Given the description of an element on the screen output the (x, y) to click on. 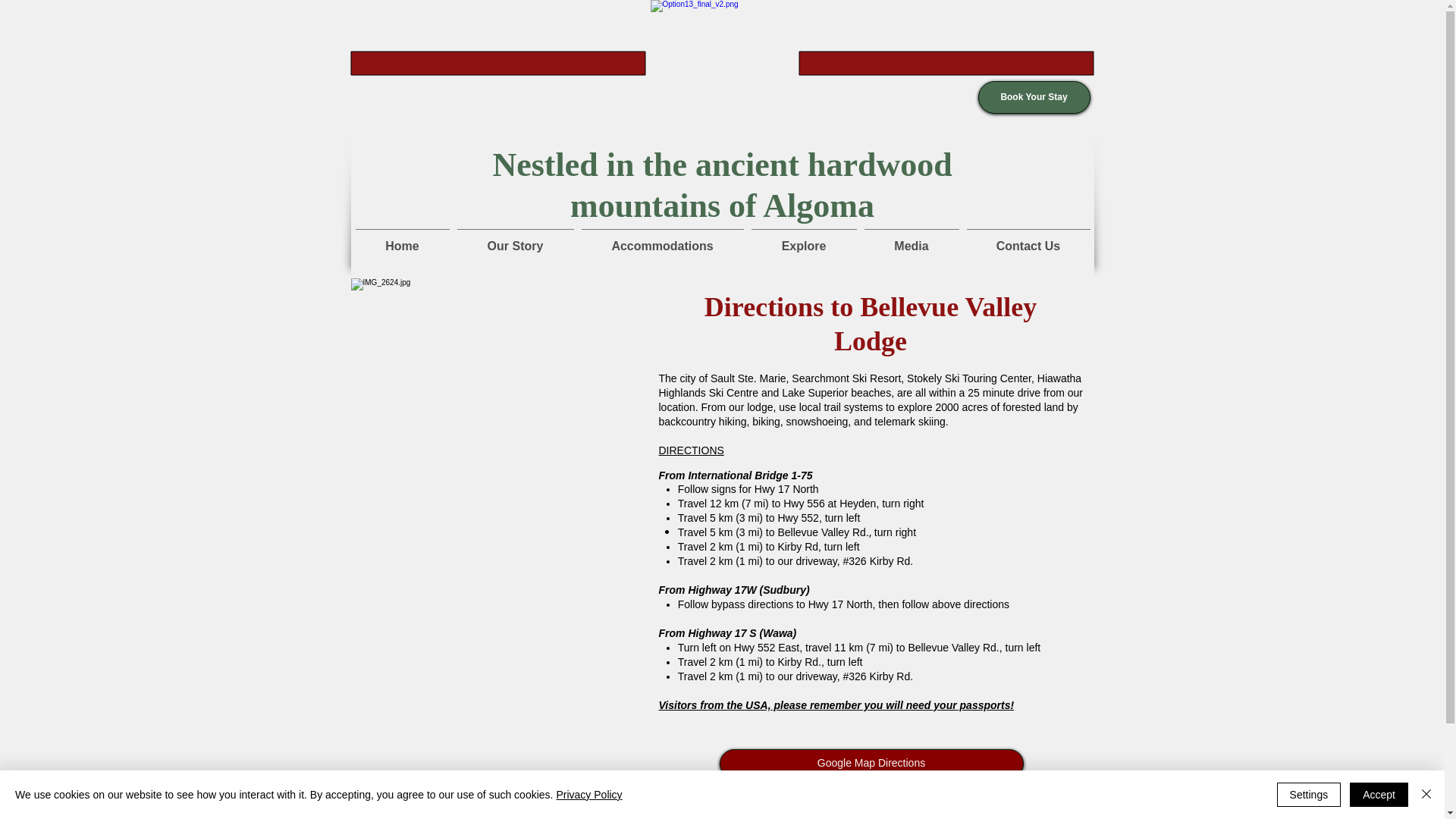
Book Your Stay Element type: text (1034, 97)
Contact Us Element type: text (1028, 239)
Explore Element type: text (803, 239)
Home Element type: text (402, 239)
Google Map Directions Element type: text (870, 763)
Privacy Policy Element type: text (588, 794)
Our Story Element type: text (515, 239)
Settings Element type: text (1309, 794)
Accommodations Element type: text (662, 239)
Media Element type: text (910, 239)
Accept Element type: text (1378, 794)
